Given the description of an element on the screen output the (x, y) to click on. 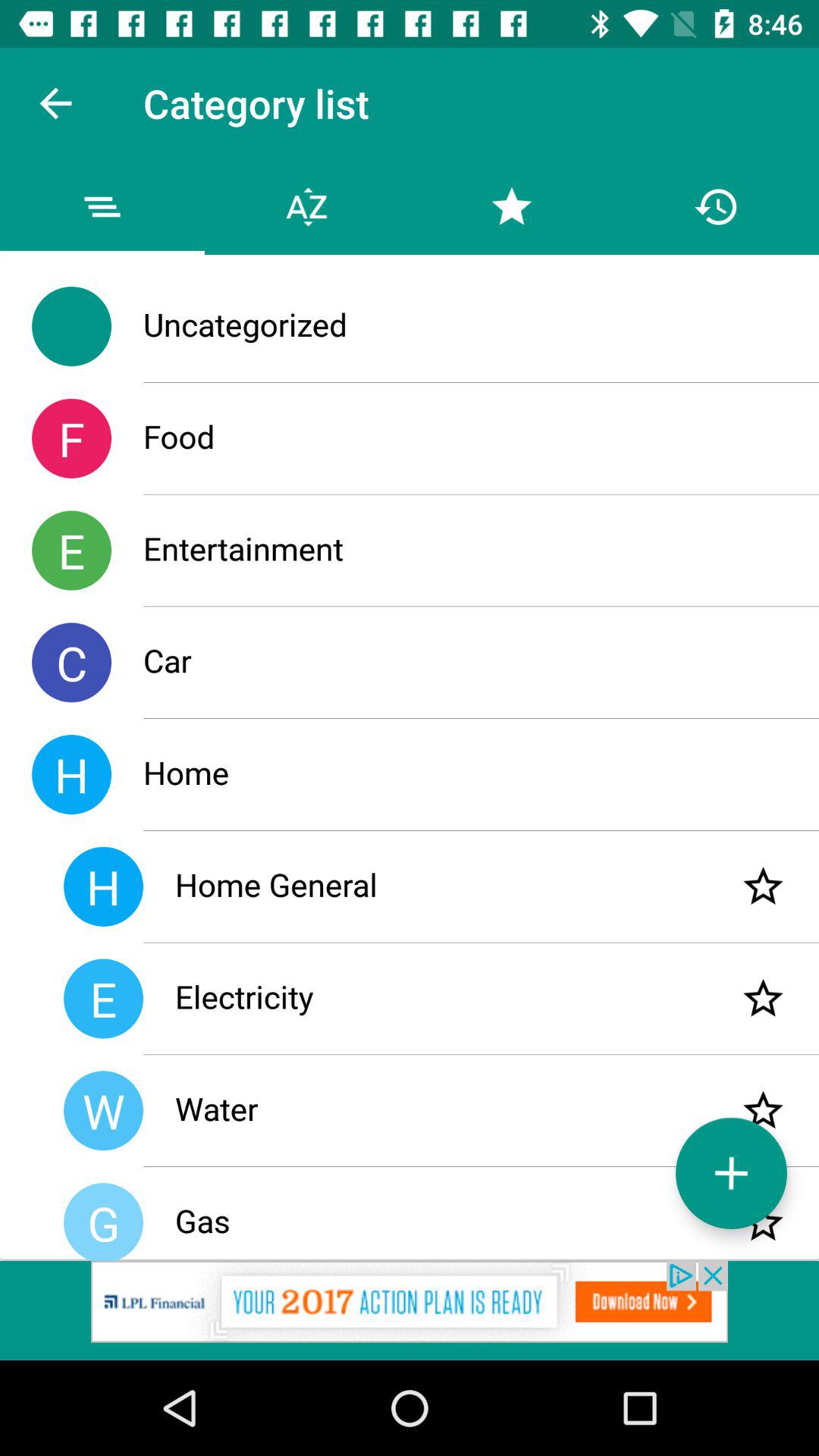
save to favorites (763, 1222)
